Given the description of an element on the screen output the (x, y) to click on. 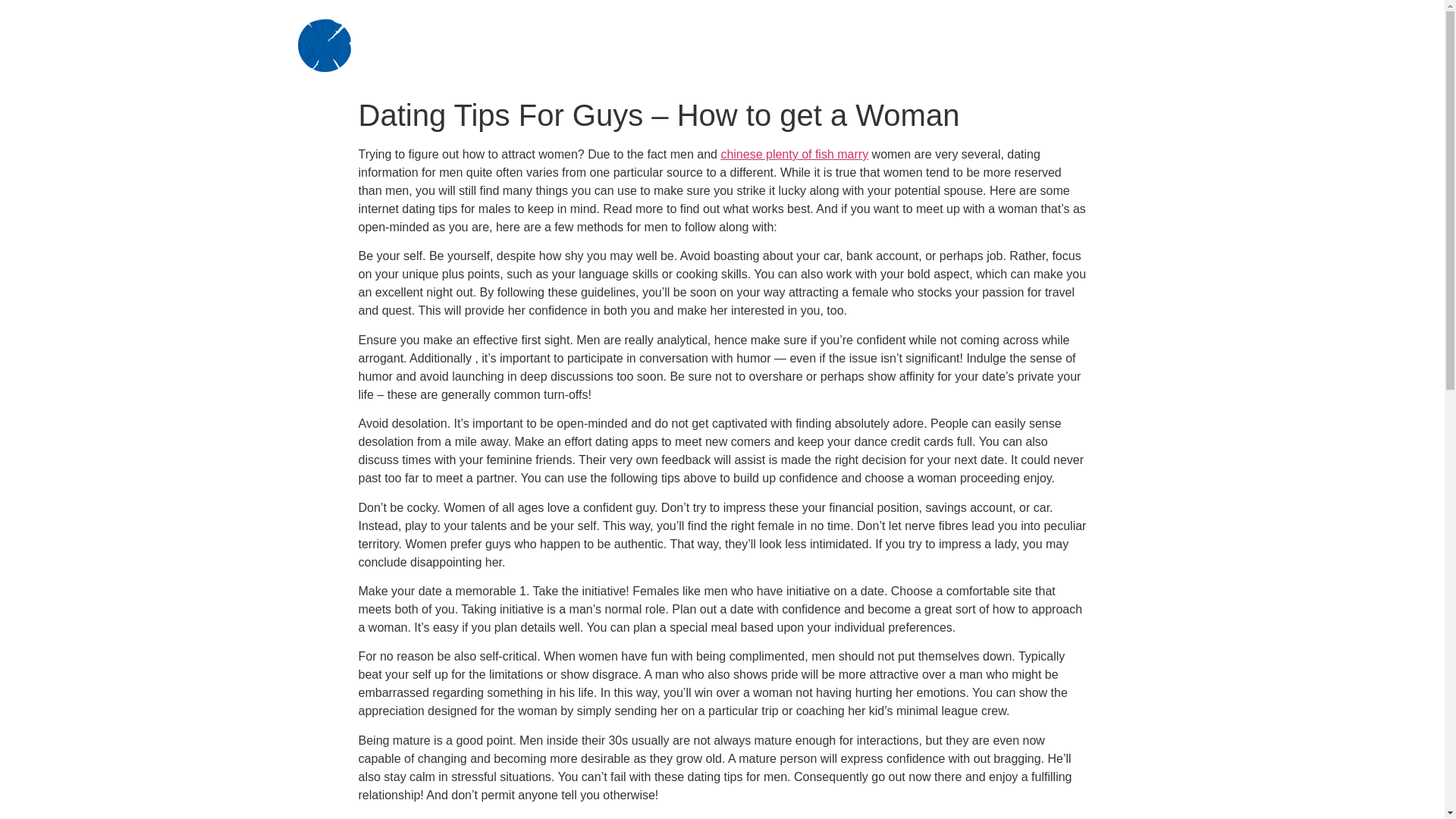
CONTACT US (1080, 64)
HOME (737, 26)
chinese plenty of fish marry (793, 154)
OUR PRODUCTS (1045, 26)
PROJECTS (913, 64)
THE STORY (864, 26)
